Given the description of an element on the screen output the (x, y) to click on. 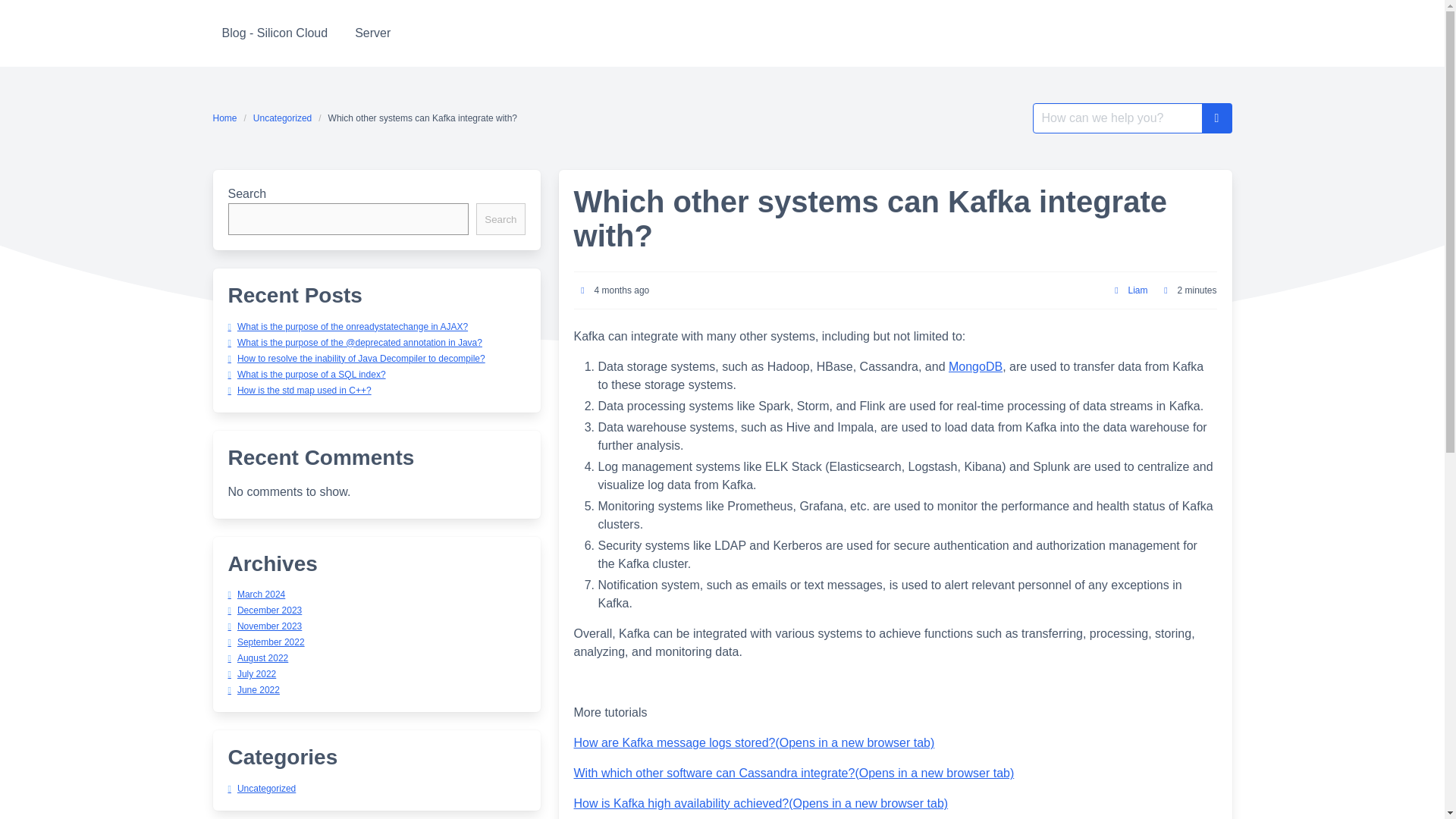
June 2022 (253, 689)
Home (227, 118)
March 2024 (256, 593)
Blog - Silicon Cloud (274, 33)
July 2022 (251, 674)
November 2023 (264, 625)
September 2022 (265, 642)
Uncategorized (282, 118)
August 2022 (257, 657)
Search (500, 219)
Which other systems can Kafka integrate with? (422, 118)
MongoDB (976, 366)
Uncategorized (261, 787)
Server (372, 33)
